Given the description of an element on the screen output the (x, y) to click on. 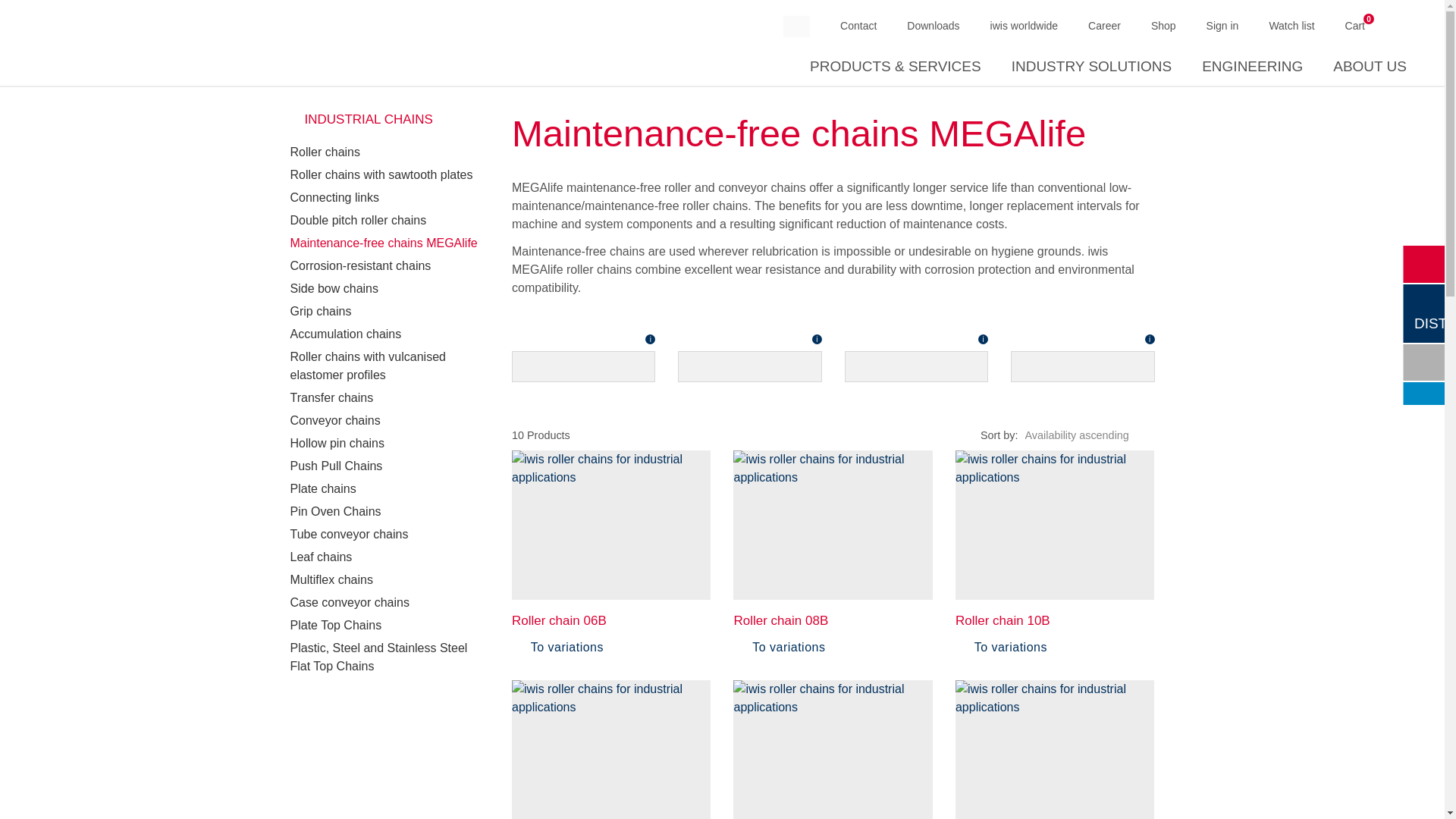
Cart (1355, 25)
iwis roller chains for industrial applications (832, 524)
iwis roller chains for industrial applications (1054, 524)
Watch list (1291, 25)
iwis worldwide (1024, 25)
Contact (858, 25)
iwis roller chains for industrial applications (611, 749)
Downloads (933, 25)
Shop (1163, 25)
iwis roller chains for industrial applications (832, 749)
iwis roller chains for industrial applications (1054, 749)
Sign in (1223, 25)
Career (1104, 25)
iwis roller chains for industrial applications (611, 524)
